Given the description of an element on the screen output the (x, y) to click on. 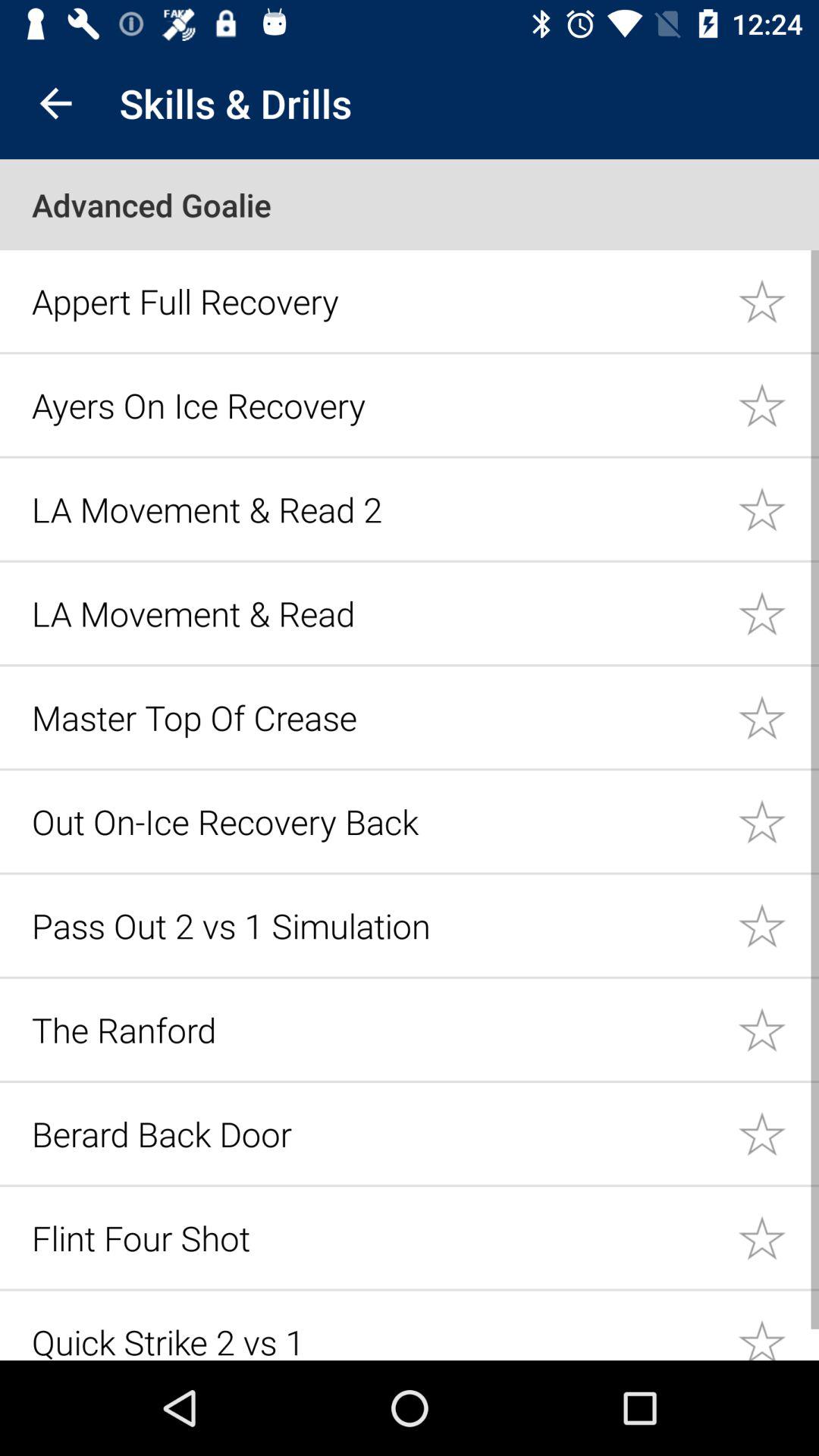
jump to the berard back door item (376, 1133)
